Given the description of an element on the screen output the (x, y) to click on. 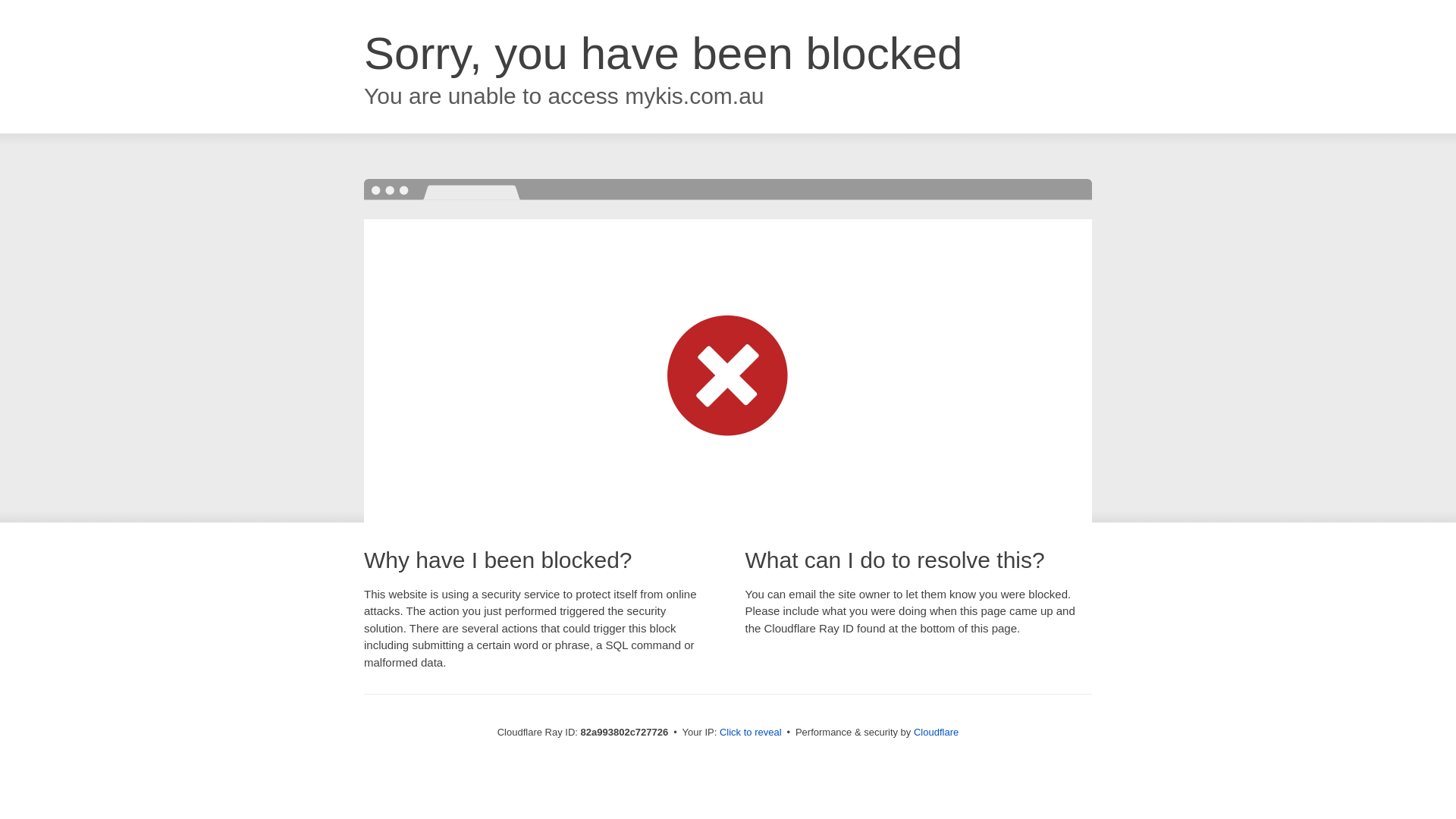
Cloudflare Element type: text (935, 731)
Click to reveal Element type: text (750, 732)
